Given the description of an element on the screen output the (x, y) to click on. 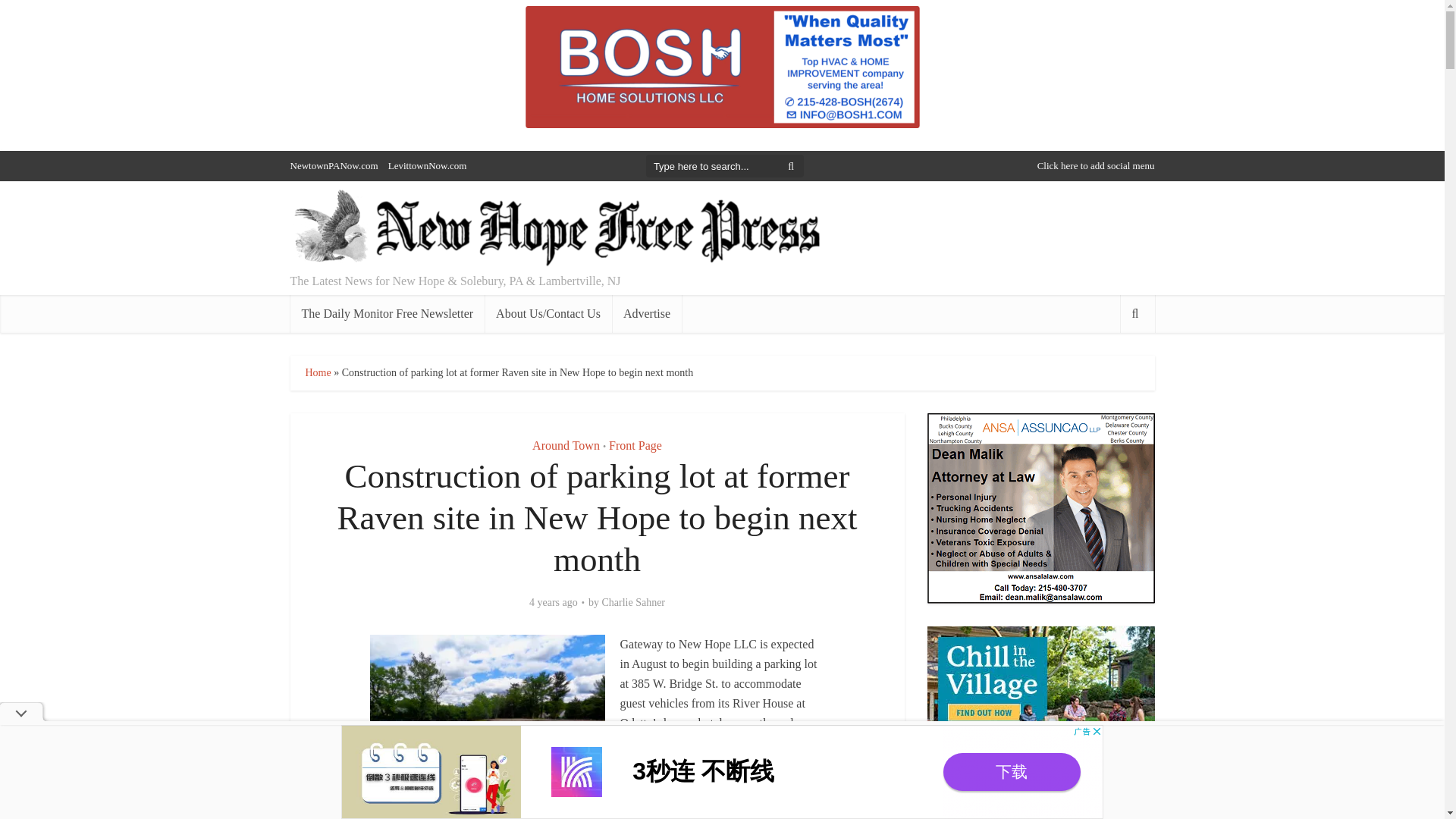
NewtownPANow.com (333, 165)
Charlie Sahner (633, 602)
LevittownNow.com (427, 165)
Click here to add social menu (1095, 165)
The Daily Monitor Free Newsletter (386, 313)
Around Town (565, 445)
Type here to search... (724, 165)
Front Page (635, 445)
Home (317, 372)
New Hope Free Press (555, 228)
Type here to search... (724, 165)
Advertise (646, 313)
